Given the description of an element on the screen output the (x, y) to click on. 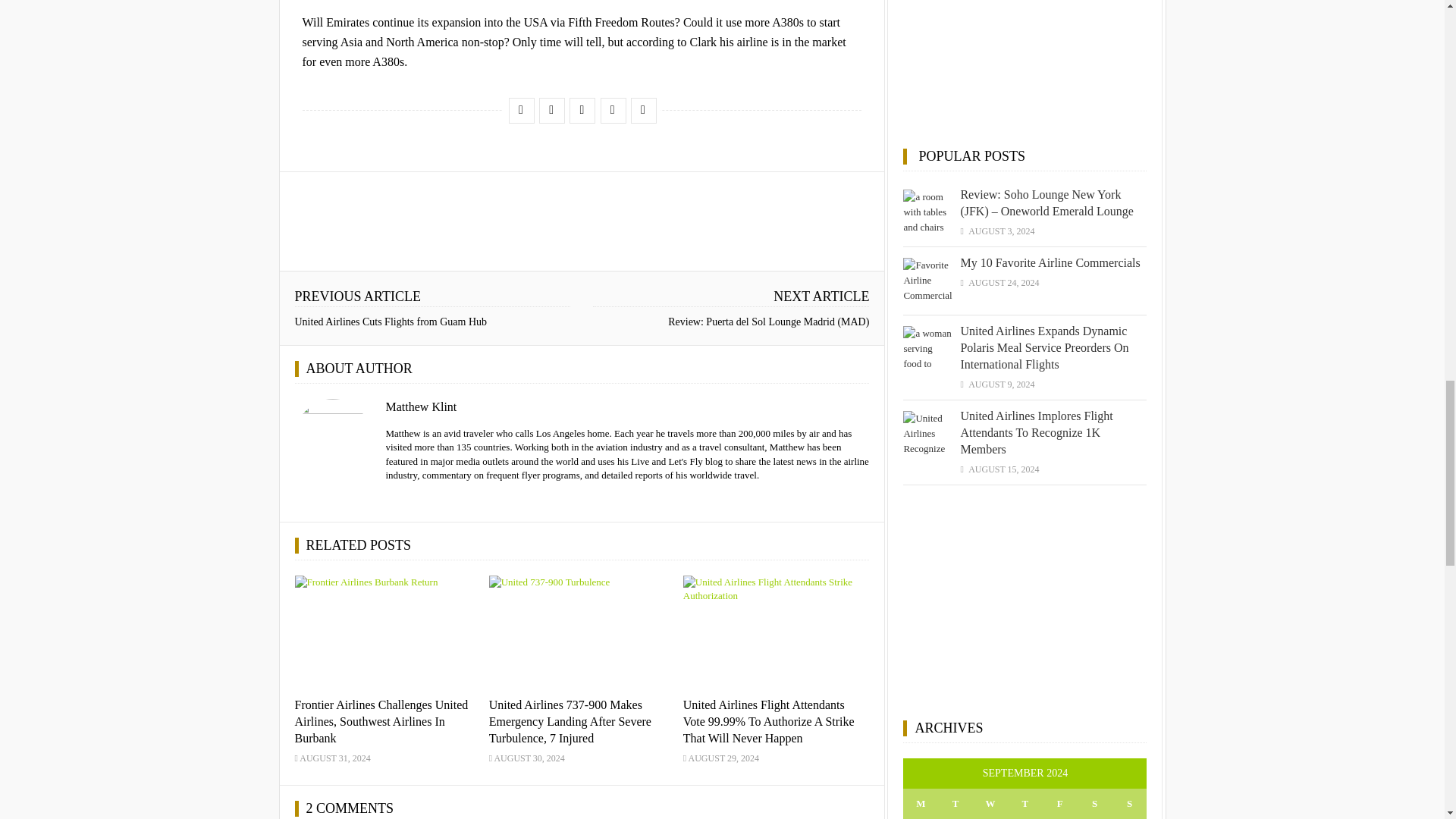
Share on Facebook (520, 109)
Share on Twitter (550, 109)
Share on StumbleUpon (581, 109)
Share on Reddit (611, 109)
